Given the description of an element on the screen output the (x, y) to click on. 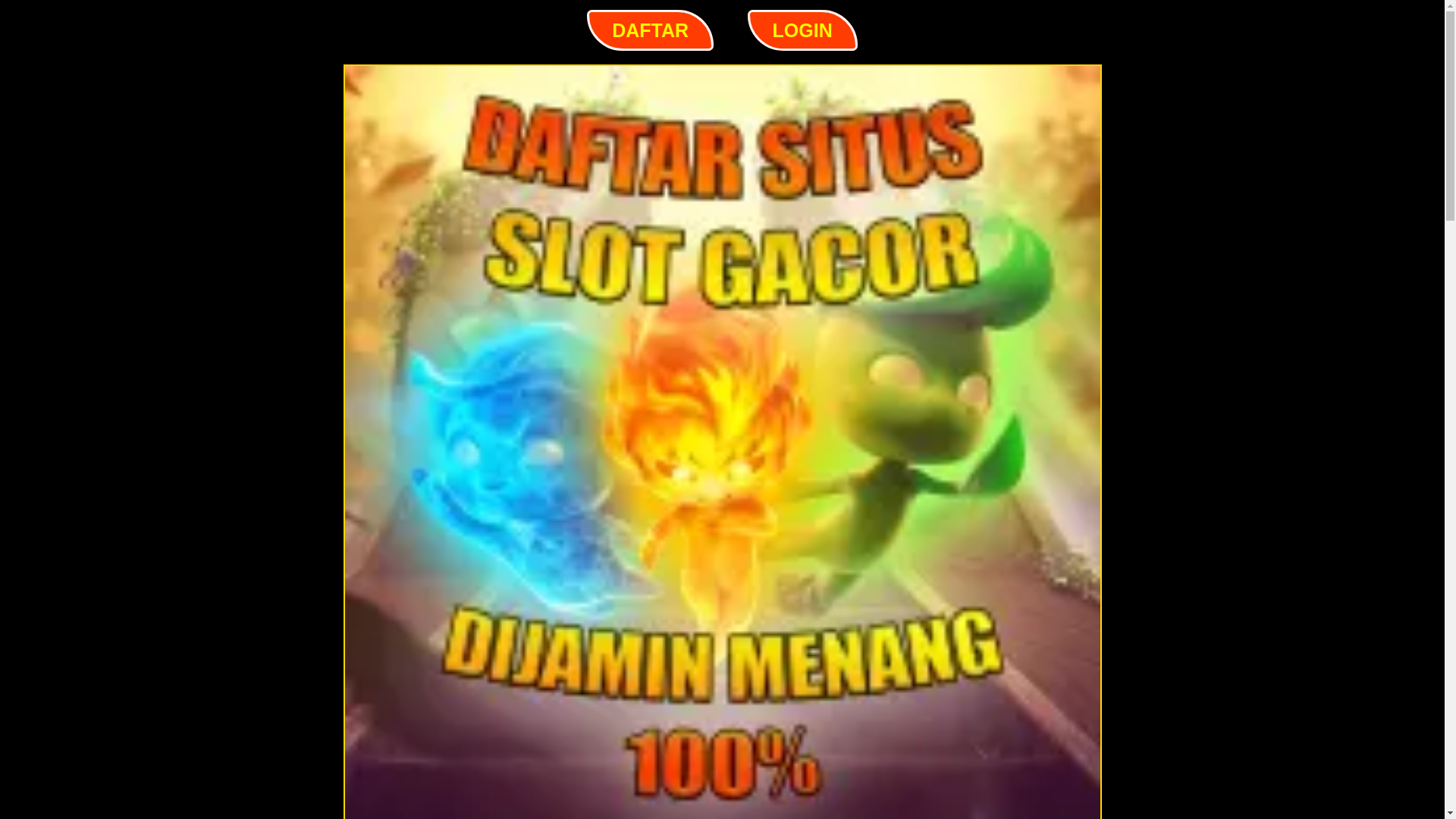
LOGIN Element type: text (802, 29)
DAFTAR Element type: text (649, 29)
